Given the description of an element on the screen output the (x, y) to click on. 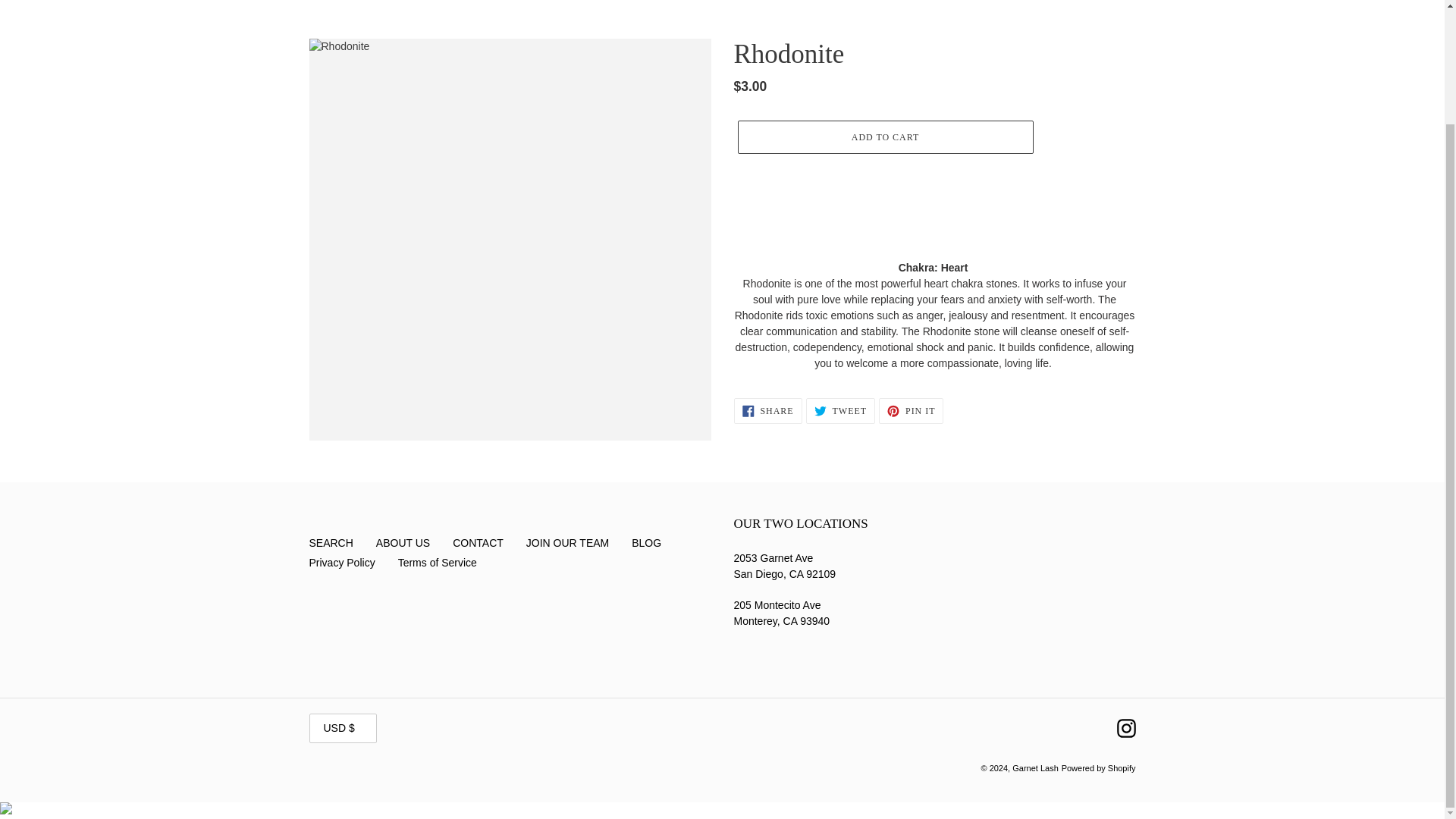
ADD TO CART (884, 136)
